Given the description of an element on the screen output the (x, y) to click on. 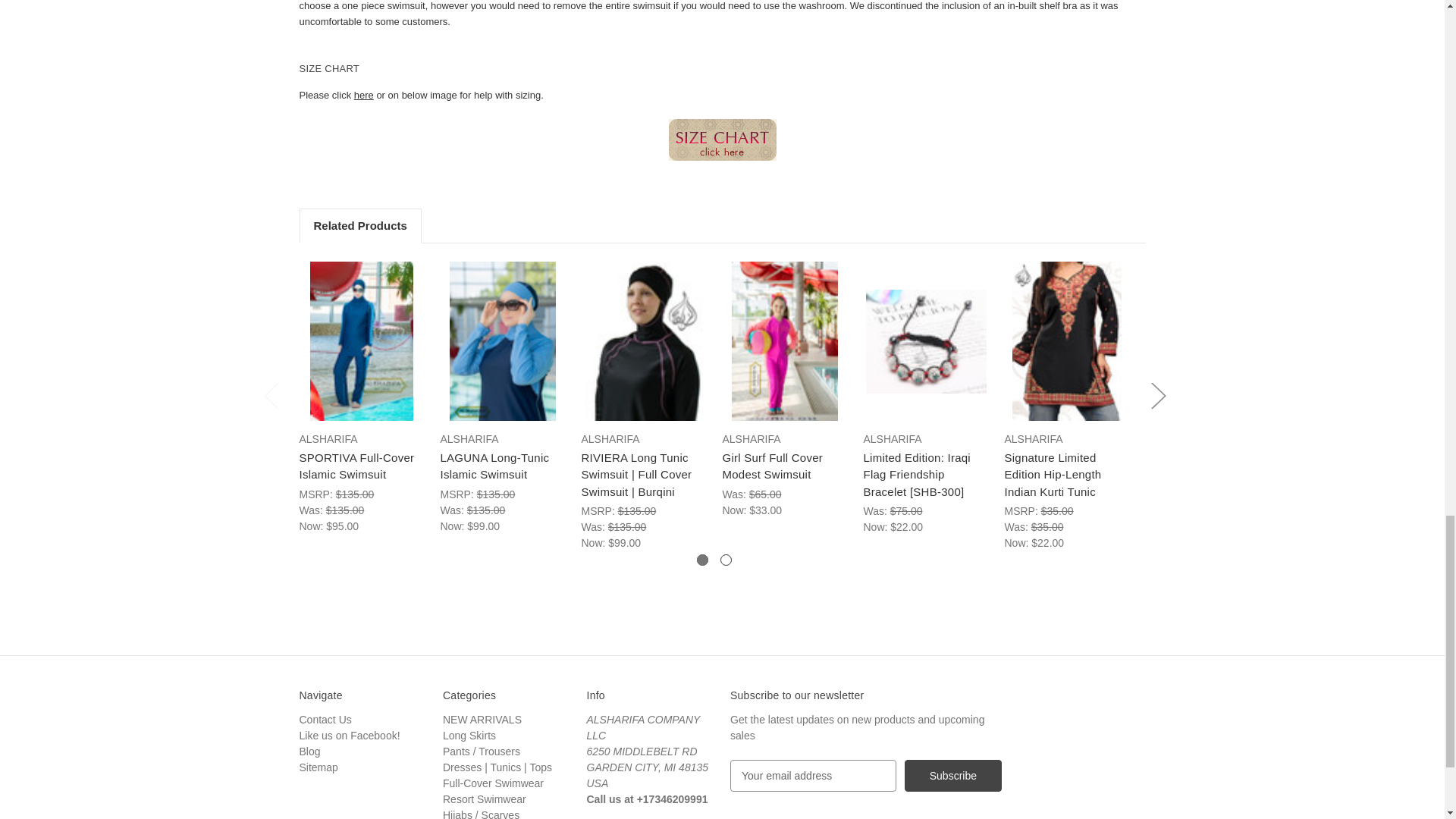
islamic swimsuit size chart (722, 139)
Subscribe (952, 775)
Iraqi Flag (926, 341)
